Given the description of an element on the screen output the (x, y) to click on. 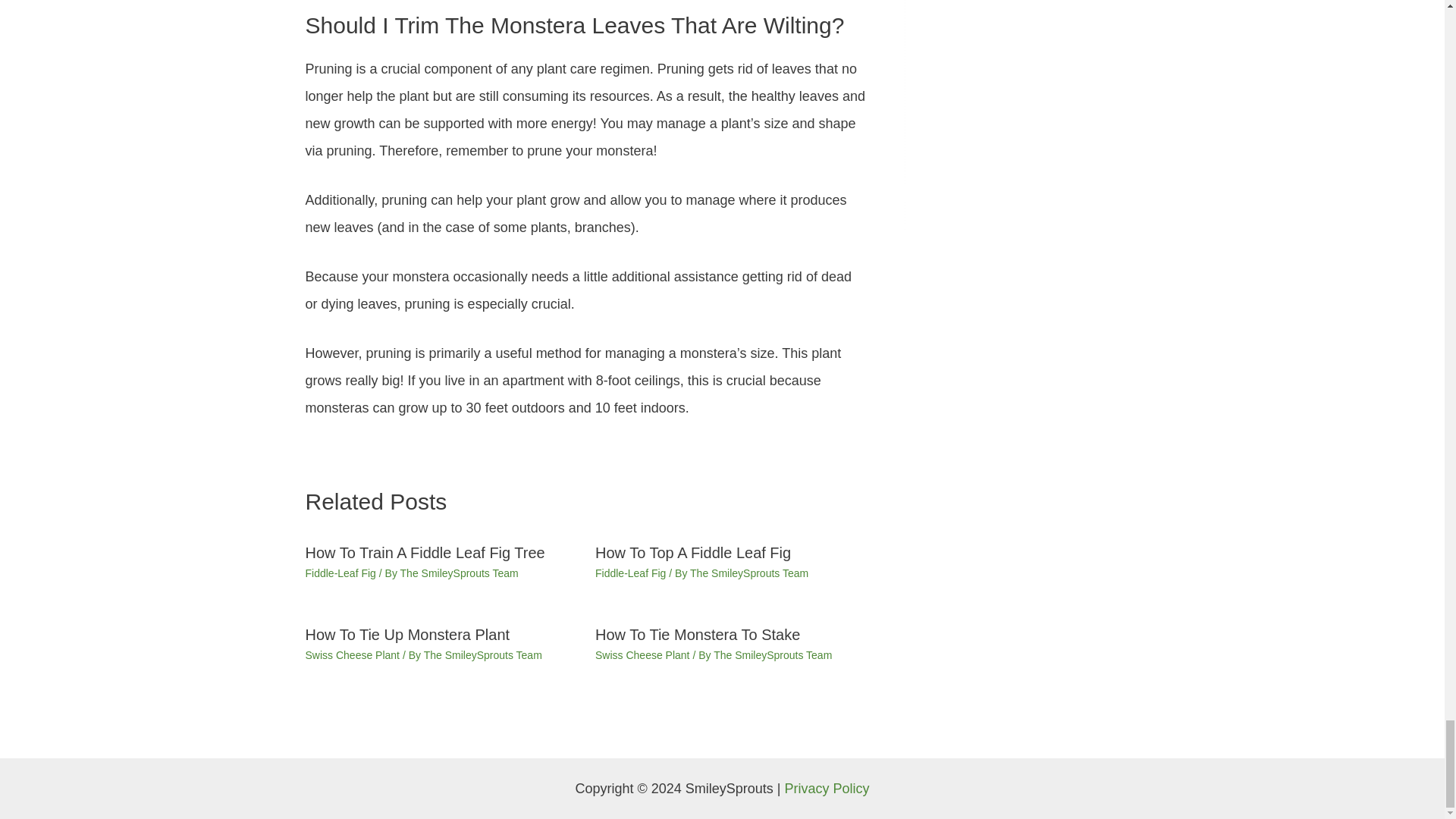
The SmileySprouts Team (459, 573)
How To Train A Fiddle Leaf Fig Tree (424, 552)
How To Tie Monstera To Stake (697, 634)
The SmileySprouts Team (749, 573)
View all posts by The SmileySprouts Team (459, 573)
View all posts by The SmileySprouts Team (772, 654)
Fiddle-Leaf Fig (339, 573)
Swiss Cheese Plant (351, 654)
Swiss Cheese Plant (642, 654)
The SmileySprouts Team (482, 654)
View all posts by The SmileySprouts Team (482, 654)
Fiddle-Leaf Fig (630, 573)
View all posts by The SmileySprouts Team (749, 573)
How To Top A Fiddle Leaf Fig (692, 552)
How To Tie Up Monstera Plant (406, 634)
